Given the description of an element on the screen output the (x, y) to click on. 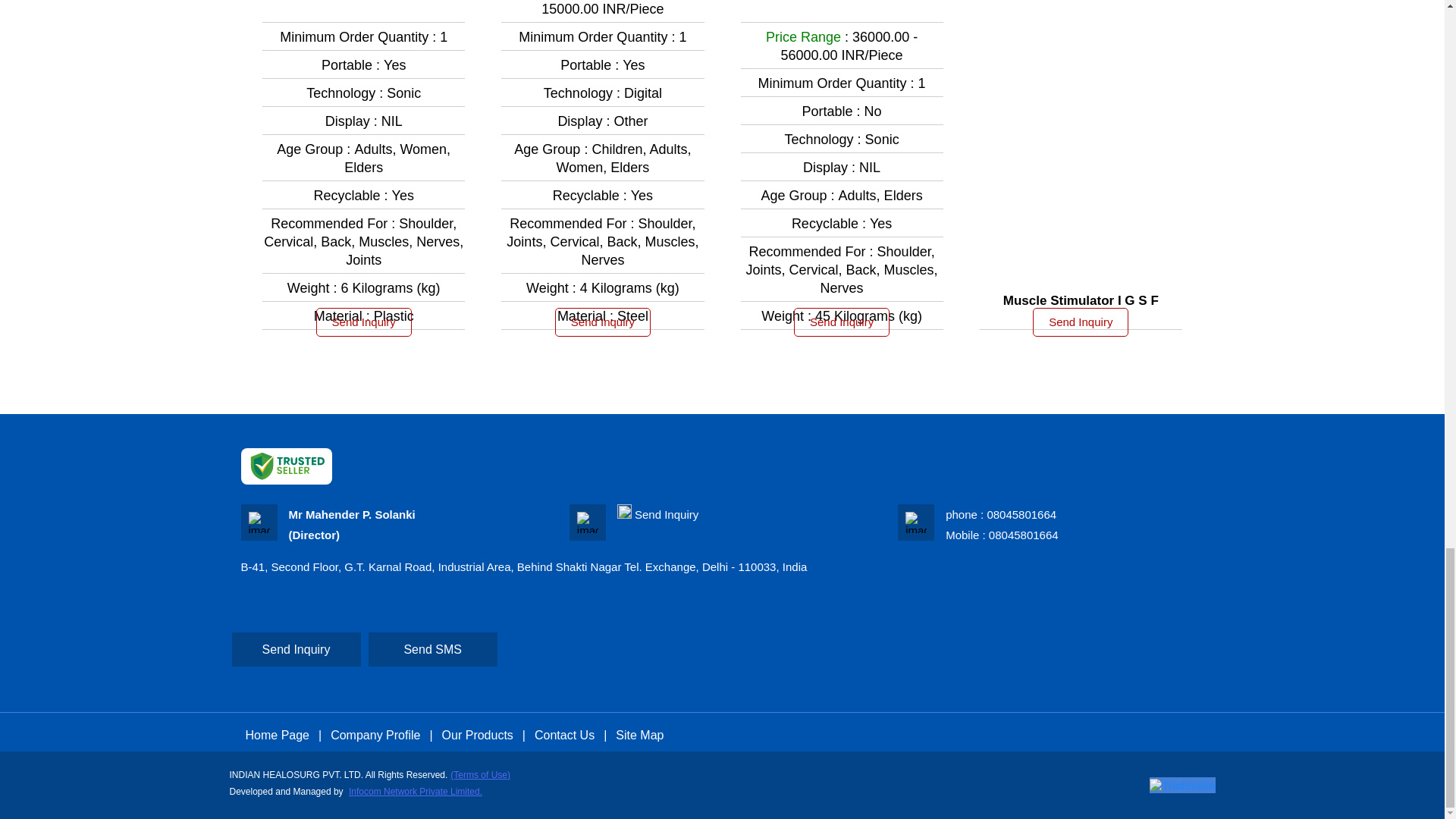
Muscle Stimulator I G S F (1080, 300)
Send Inquiry (666, 513)
Send Inquiry (602, 321)
Send Inquiry (363, 321)
Shortwave Diathermy 500 Watts (841, 1)
Accepts only Domestic Inquiries (624, 511)
Send Inquiry (1080, 321)
Send Inquiry (841, 321)
